Given the description of an element on the screen output the (x, y) to click on. 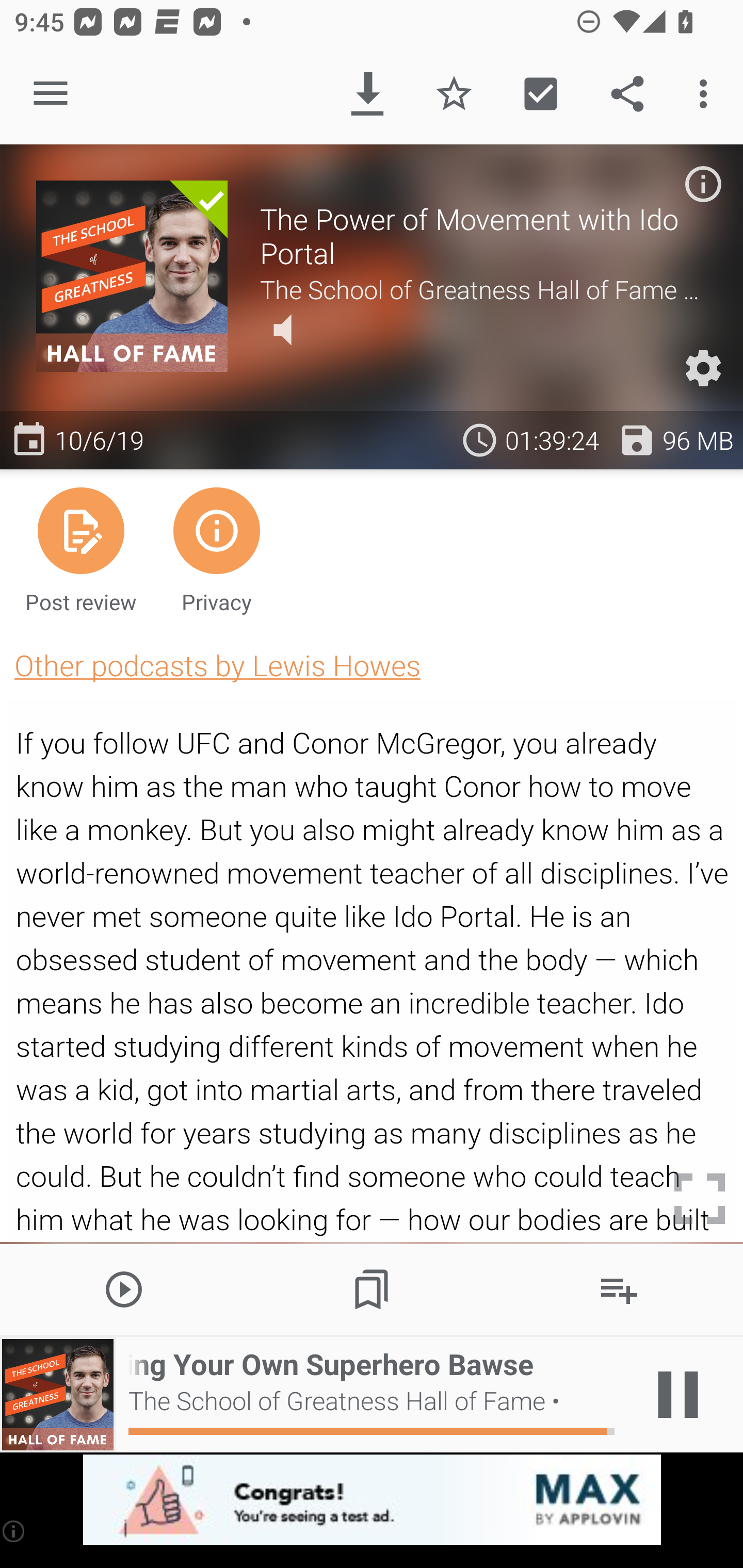
Open navigation sidebar (50, 93)
Download (366, 93)
Favorite (453, 93)
Mark played / unplayed (540, 93)
Share (626, 93)
More options (706, 93)
Podcast description (703, 184)
The Power of Movement with Ido Portal (483, 235)
Custom Settings (703, 368)
Post review (81, 549)
Privacy (216, 549)
Other podcasts by Lewis Howes (217, 665)
Toggle full screen mode (699, 1198)
Play (123, 1288)
Chapters / Bookmarks (371, 1288)
Add to Playlist (619, 1288)
Play / Pause (677, 1394)
app-monetization (371, 1500)
(i) (14, 1531)
